Given the description of an element on the screen output the (x, y) to click on. 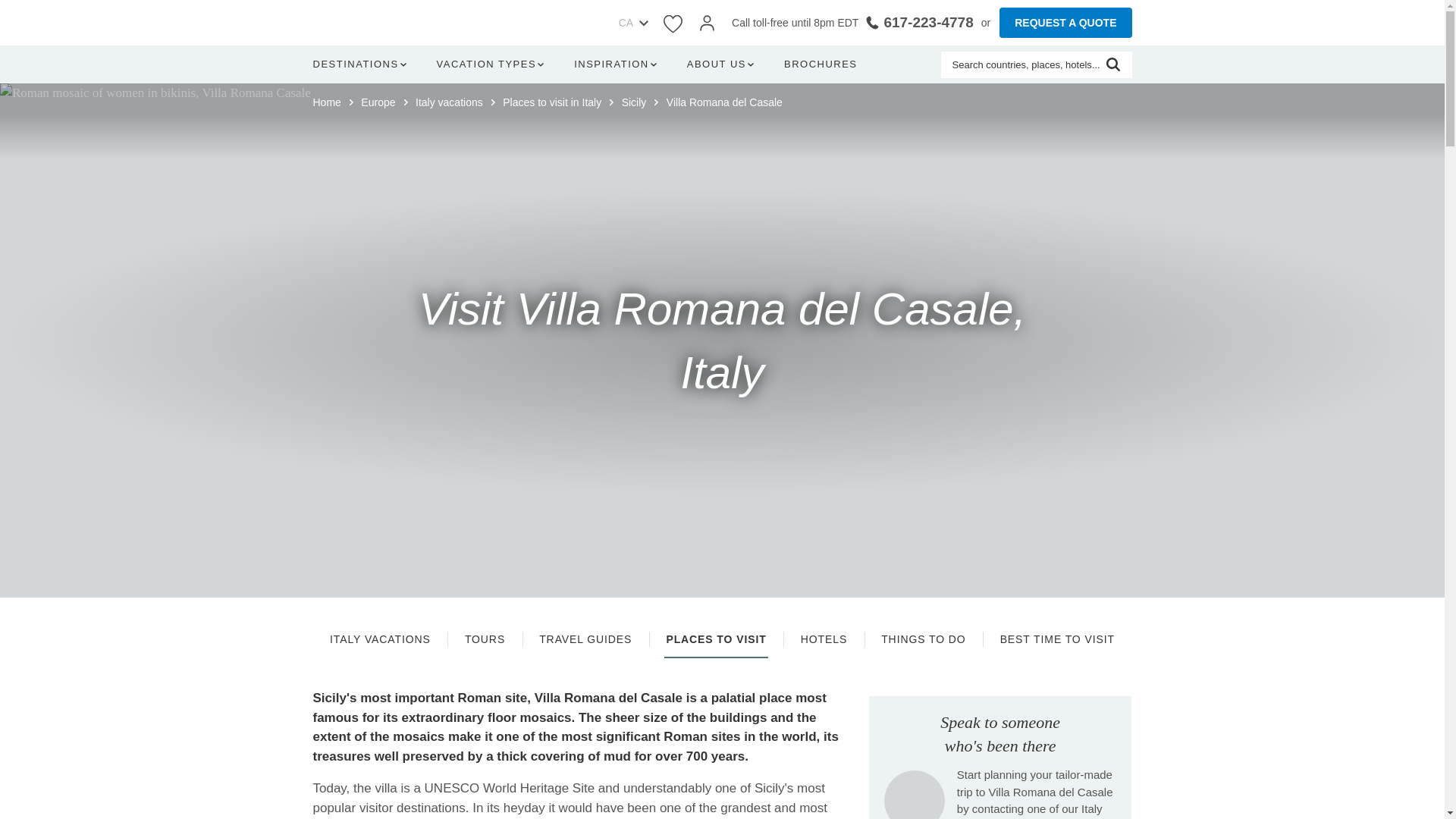
DESTINATIONS (363, 64)
CA (621, 22)
REQUEST A QUOTE (1064, 22)
